Given the description of an element on the screen output the (x, y) to click on. 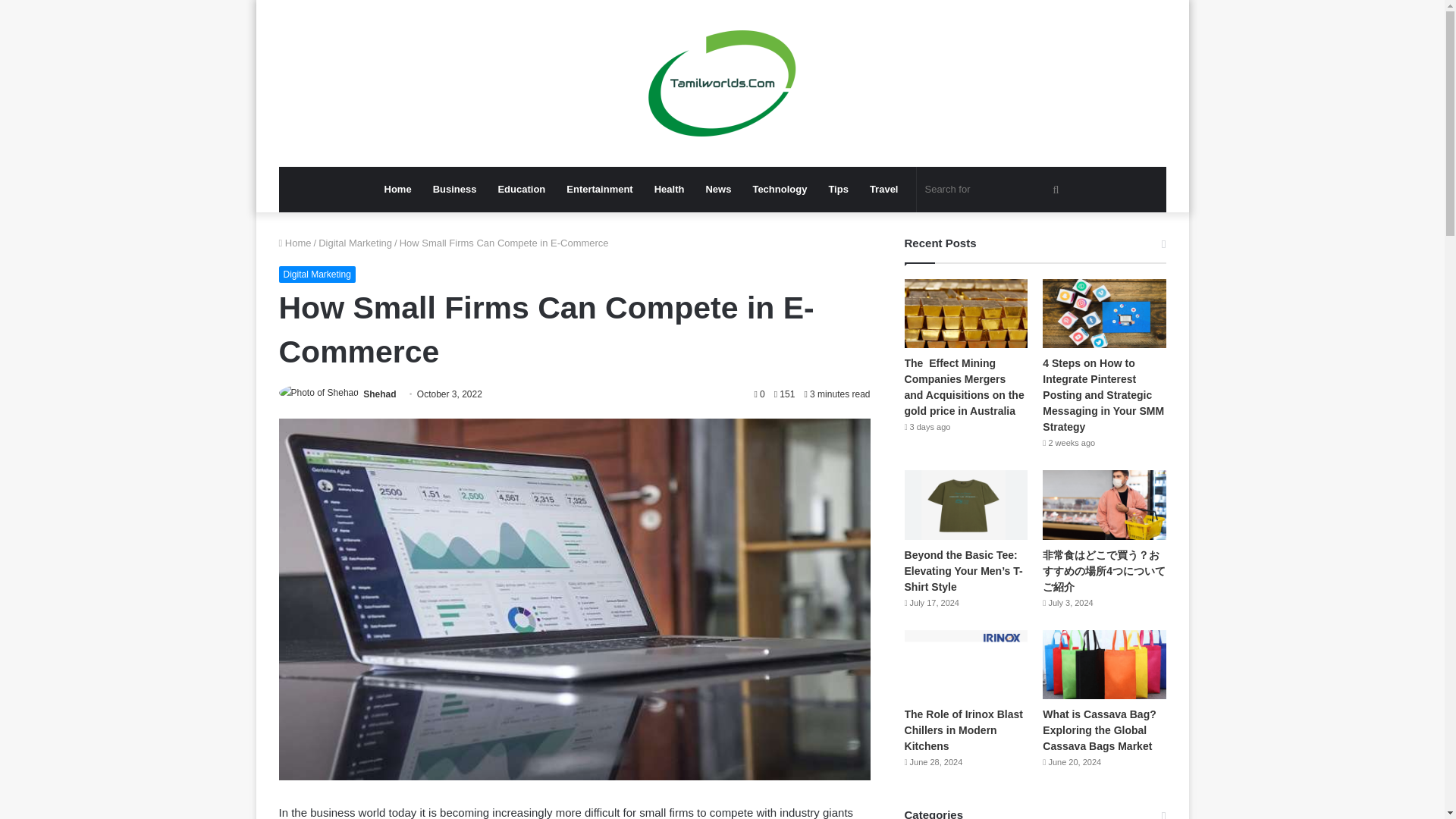
News (717, 189)
Business (454, 189)
Shehad (379, 394)
Entertainment (599, 189)
Digital Marketing (354, 242)
Home (295, 242)
Education (521, 189)
Technology (778, 189)
Search for (993, 189)
Travel (883, 189)
